Given the description of an element on the screen output the (x, y) to click on. 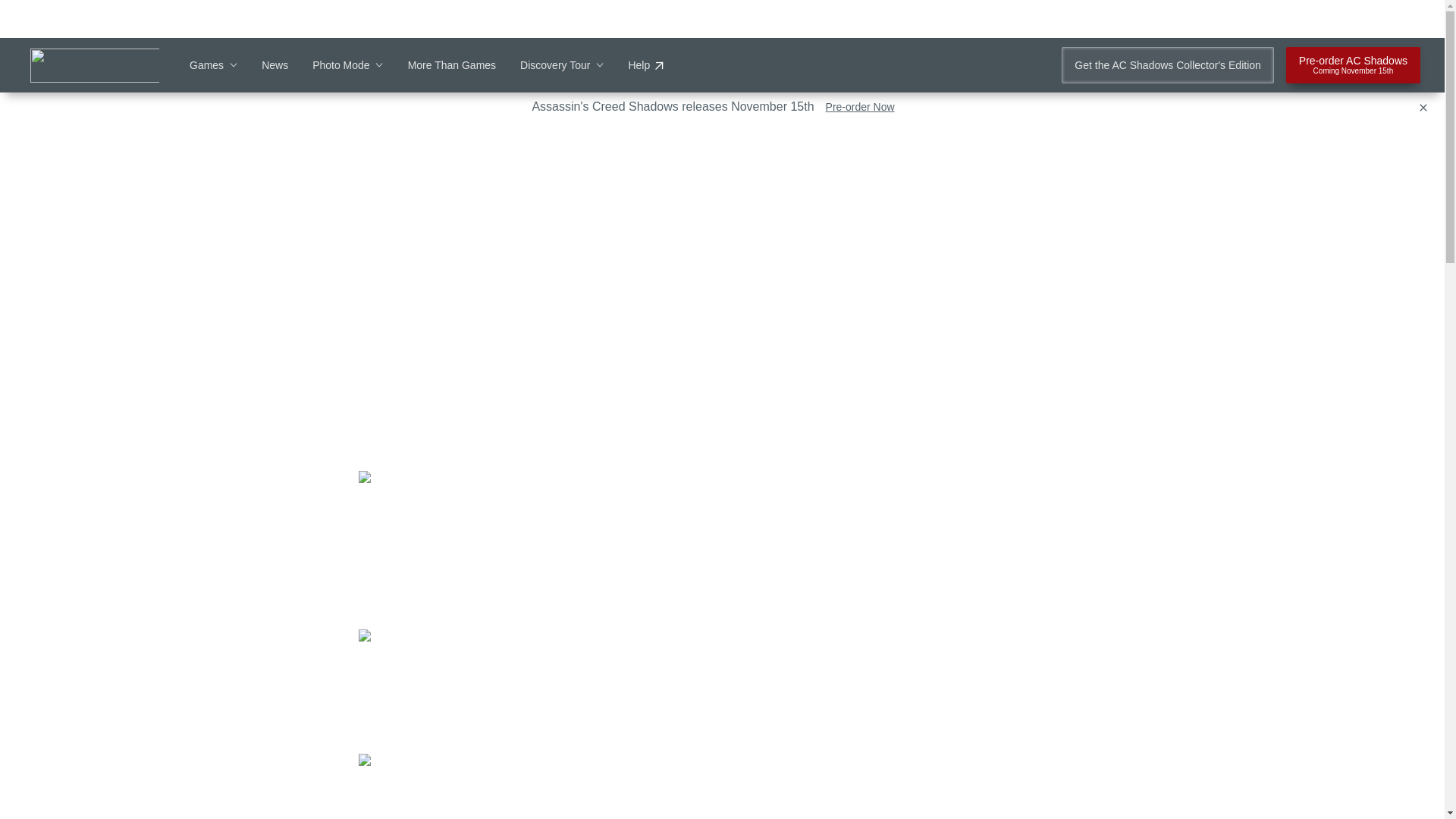
Pre-order Now (860, 106)
Photo Mode (348, 64)
More Than Games (451, 64)
Get the AC Shadows Collector's Edition (1353, 64)
Help (1166, 64)
Games (645, 64)
Back (213, 64)
Discovery Tour (197, 143)
